Given the description of an element on the screen output the (x, y) to click on. 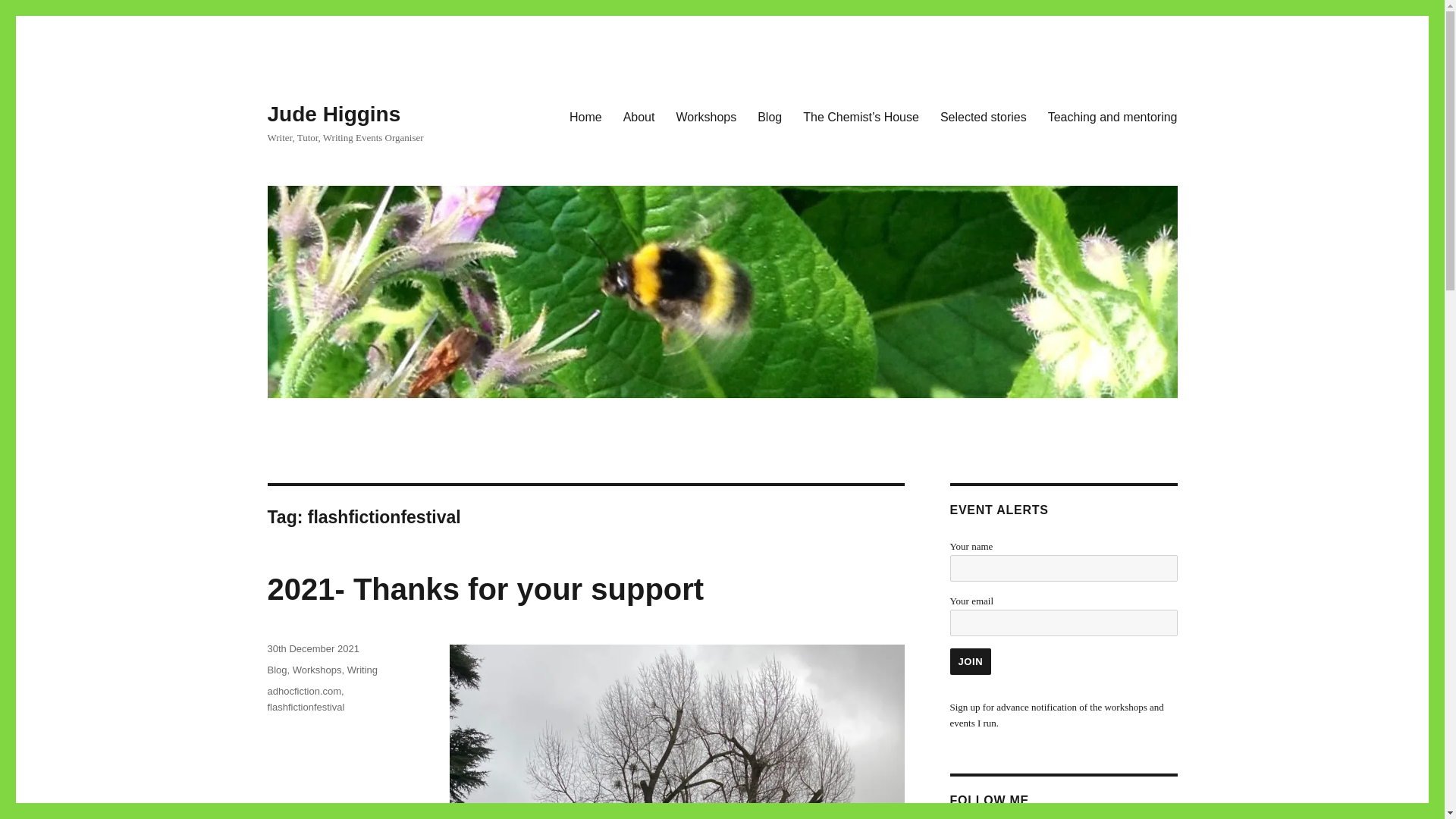
Blog (276, 669)
Writing (362, 669)
Selected stories (983, 116)
Blog (769, 116)
Teaching and mentoring (1112, 116)
Join (970, 661)
Join (970, 661)
Workshops (705, 116)
Home (585, 116)
adhocfiction.com (303, 690)
Jude Higgins (333, 114)
flashfictionfestival (304, 706)
30th December 2021 (312, 648)
2021- Thanks for your support (484, 589)
Workshops (317, 669)
